Given the description of an element on the screen output the (x, y) to click on. 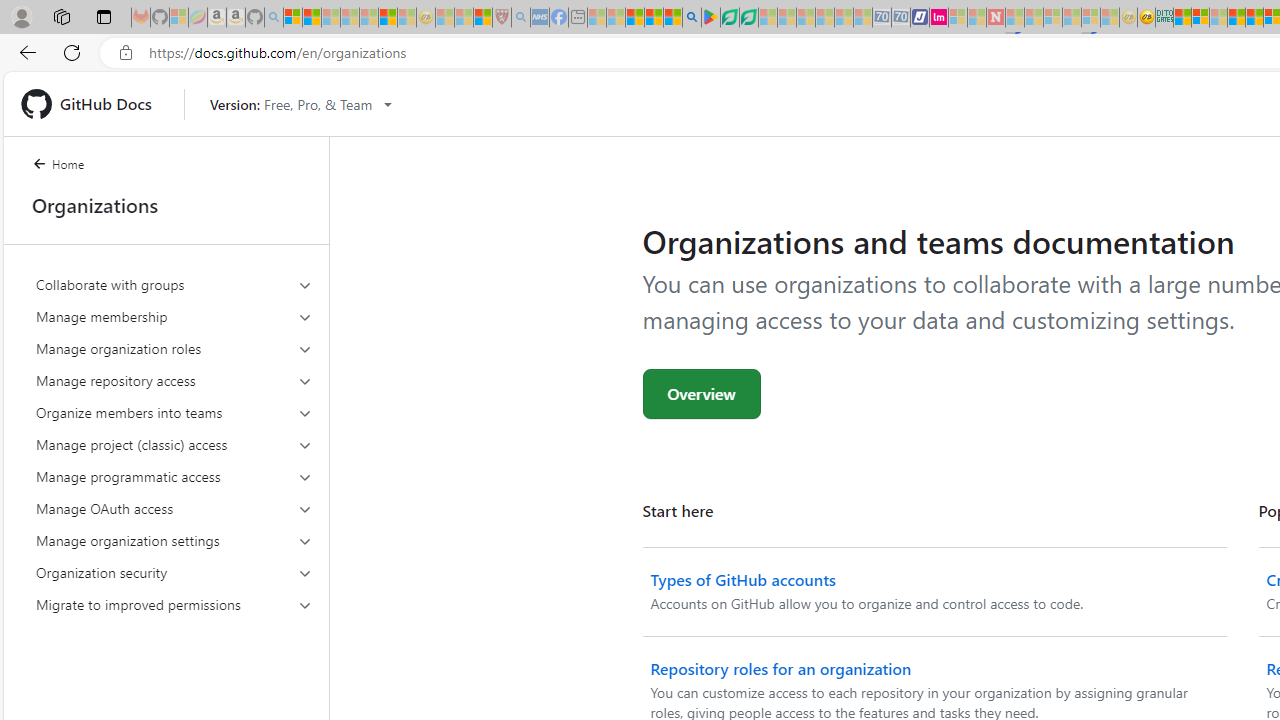
Manage OAuth access (174, 508)
Organization security (174, 572)
Manage OAuth access (174, 508)
